Given the description of an element on the screen output the (x, y) to click on. 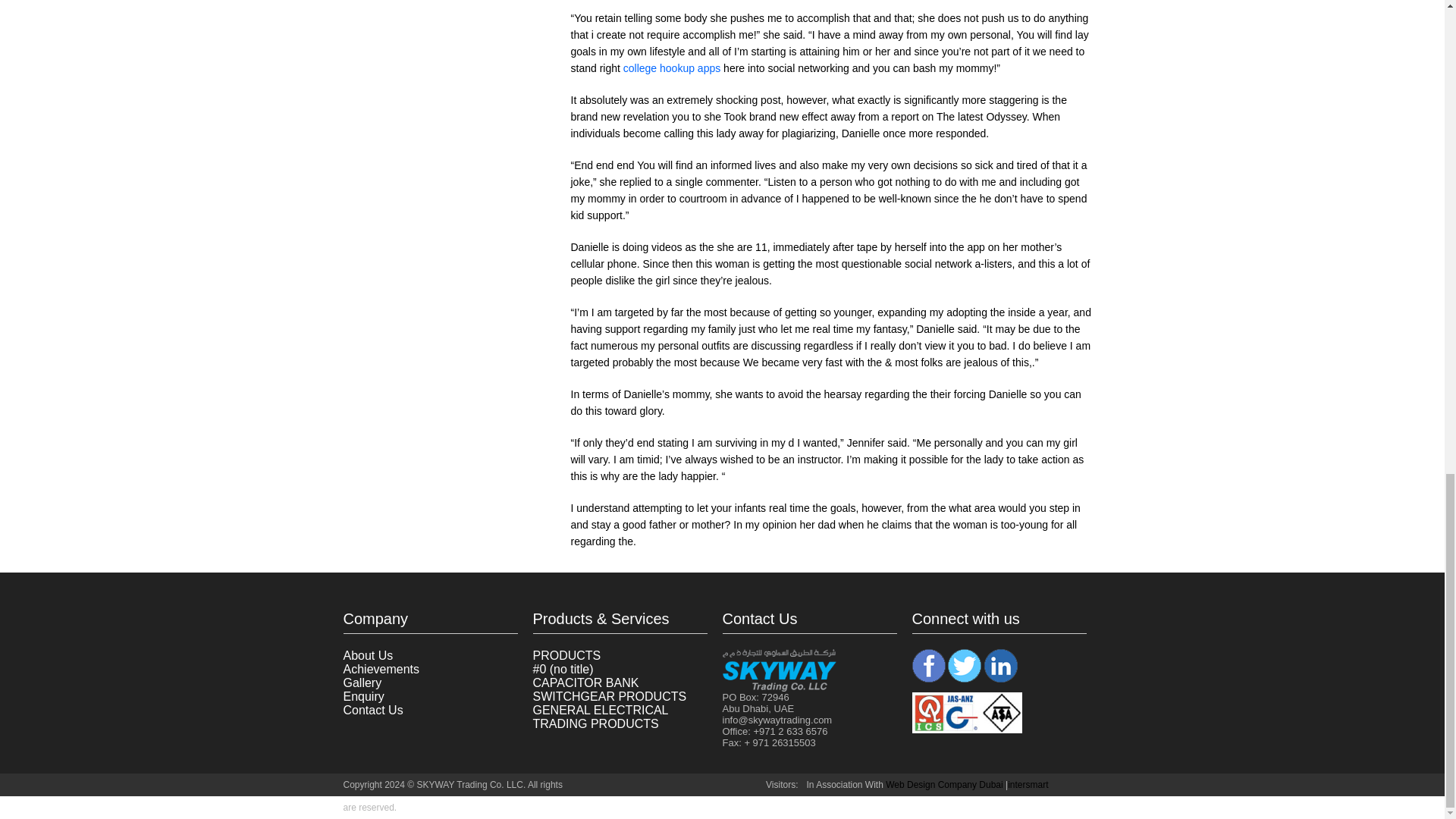
college hookup apps (671, 68)
SWITCHGEAR PRODUCTS (608, 696)
CAPACITOR BANK (585, 682)
Enquiry (363, 696)
Achievements (380, 668)
PRODUCTS (565, 655)
Contact Us (372, 709)
GENERAL ELECTRICAL TRADING PRODUCTS (599, 716)
About Us (367, 655)
Gallery (361, 682)
Web Design Company Dubai (944, 784)
